Given the description of an element on the screen output the (x, y) to click on. 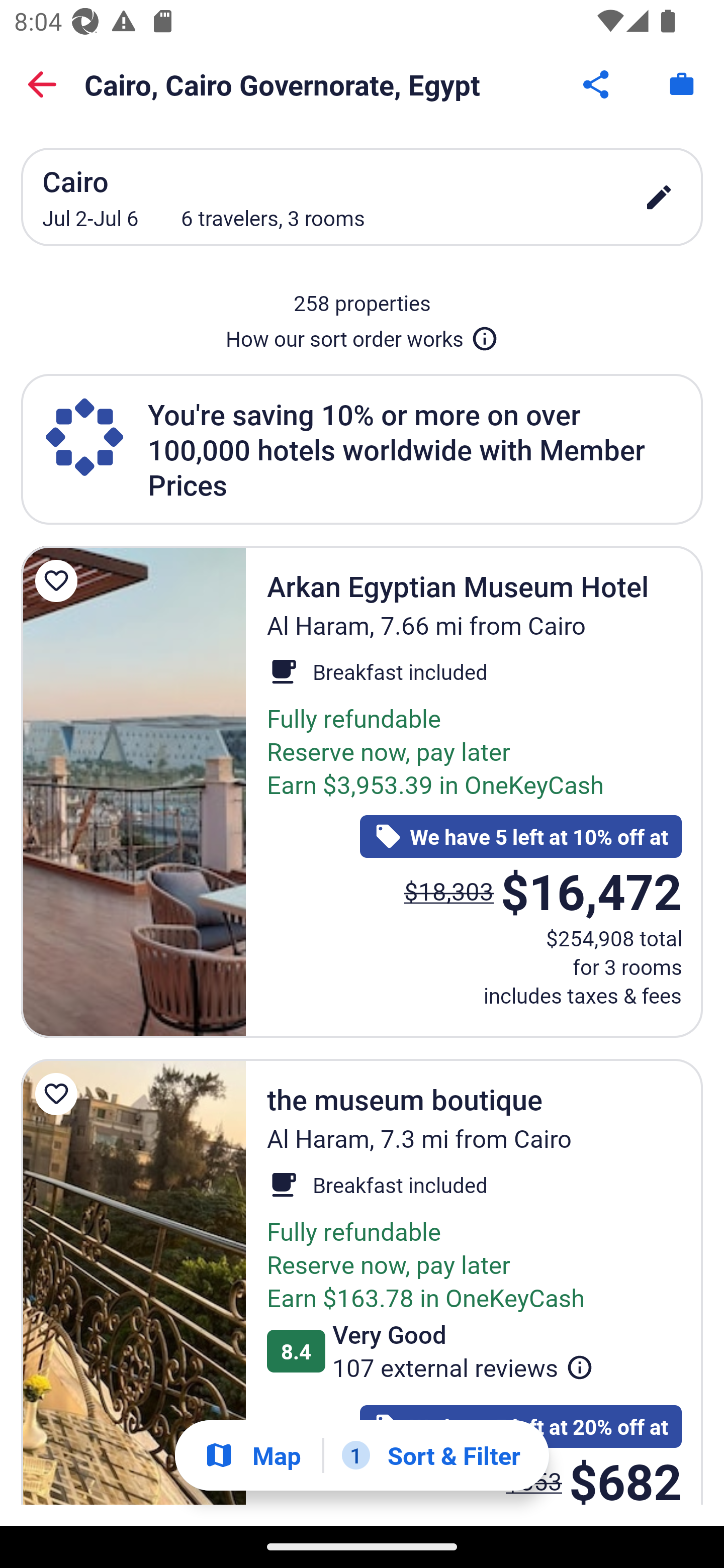
Back (42, 84)
Share Button (597, 84)
Trips. Button (681, 84)
Cairo Jul 2-Jul 6 6 travelers, 3 rooms edit (361, 196)
How our sort order works (361, 334)
Save Arkan Egyptian Museum Hotel to a trip (59, 580)
Arkan Egyptian Museum Hotel (133, 791)
$18,303 The price was $18,303 (448, 890)
Save the museum boutique to a trip (59, 1094)
the museum boutique (133, 1281)
1 Sort & Filter 1 Filter applied. Filters Button (430, 1455)
Show map Map Show map Button (252, 1455)
